Given the description of an element on the screen output the (x, y) to click on. 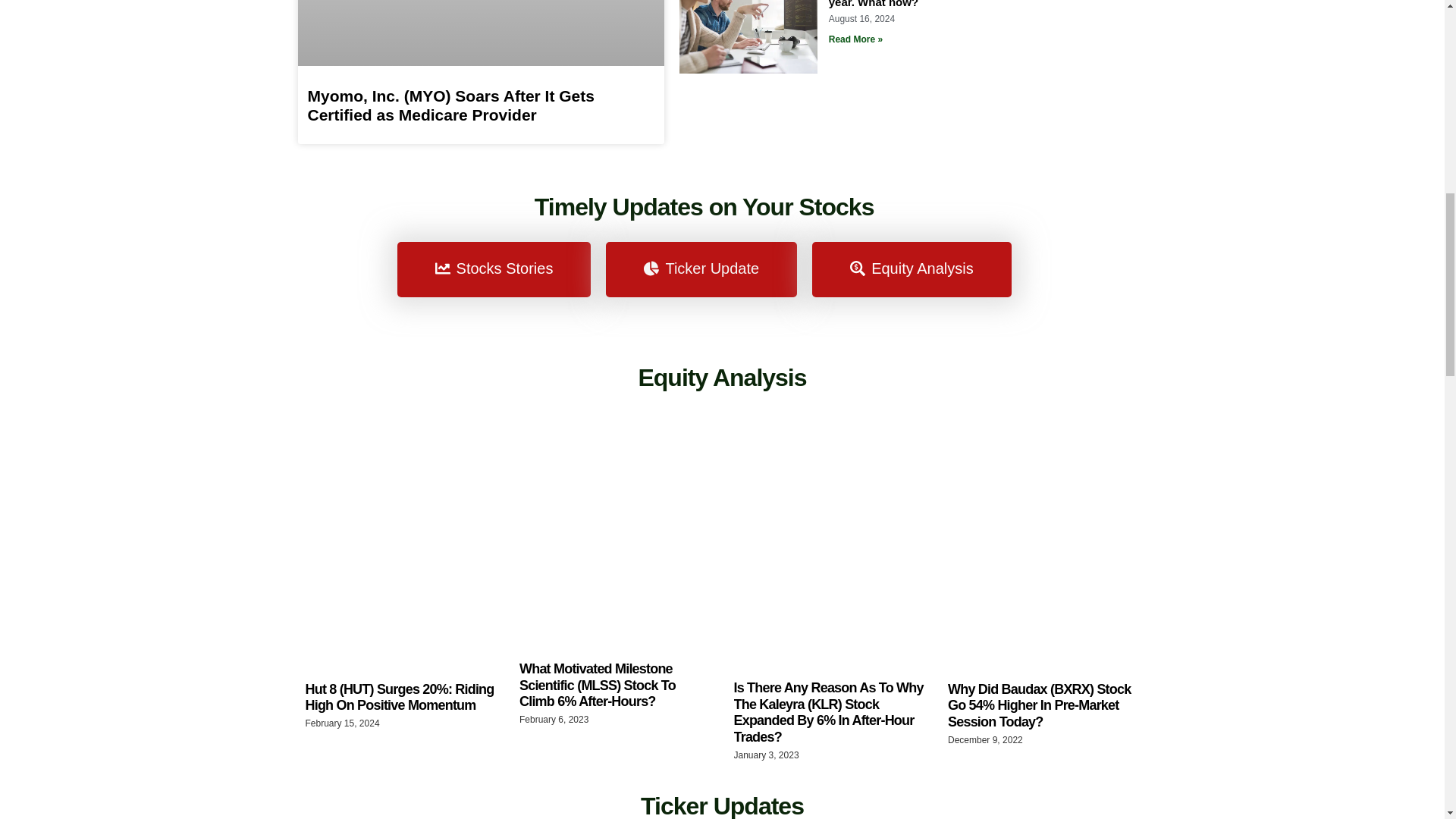
Ticker Update (700, 269)
Equity Analysis (721, 377)
Stocks Stories (494, 269)
Equity Analysis (911, 269)
